Given the description of an element on the screen output the (x, y) to click on. 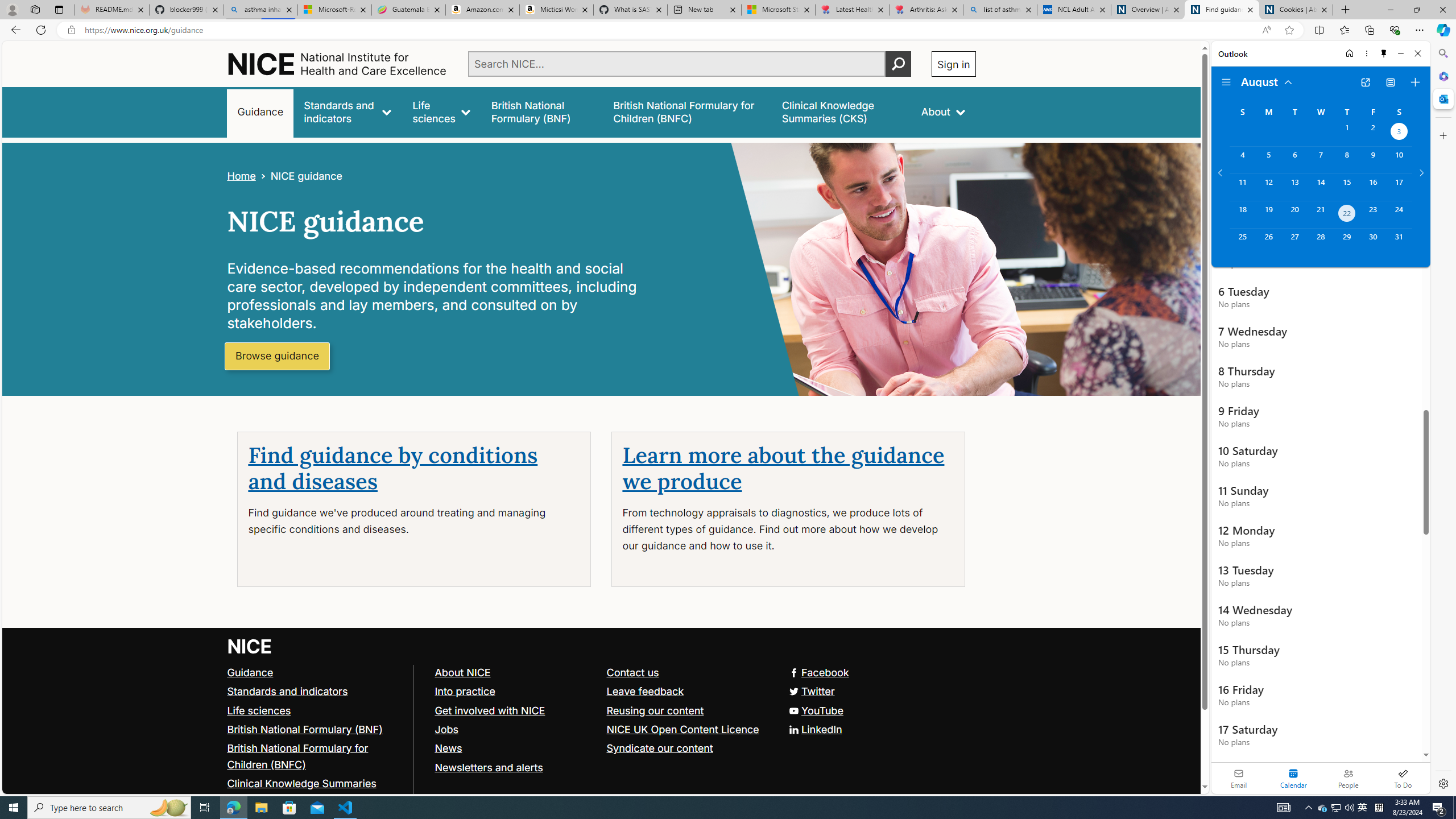
NICE UK Open Content Licence (686, 729)
Reusing our content (686, 710)
Reusing our content (654, 710)
Monday, August 26, 2024.  (1268, 241)
Create event (1414, 82)
Syndicate our content (659, 748)
Microsoft Start (777, 9)
Thursday, August 1, 2024.  (1346, 132)
About NICE (461, 671)
Close Customize pane (1442, 135)
YouTube (601, 710)
To Do (1402, 777)
